Given the description of an element on the screen output the (x, y) to click on. 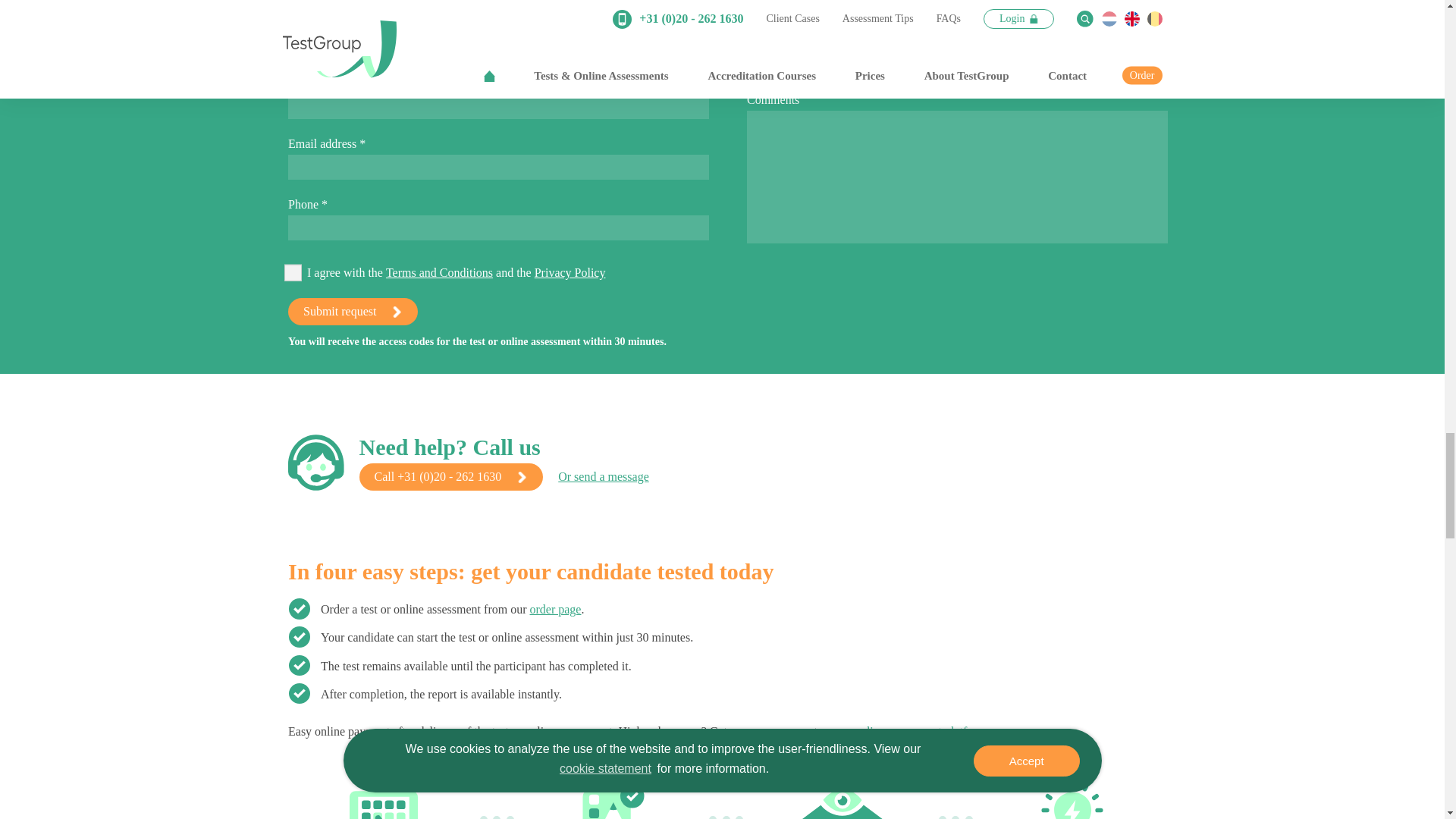
Privacy Policy (569, 272)
Terms and Conditions (439, 272)
